Given the description of an element on the screen output the (x, y) to click on. 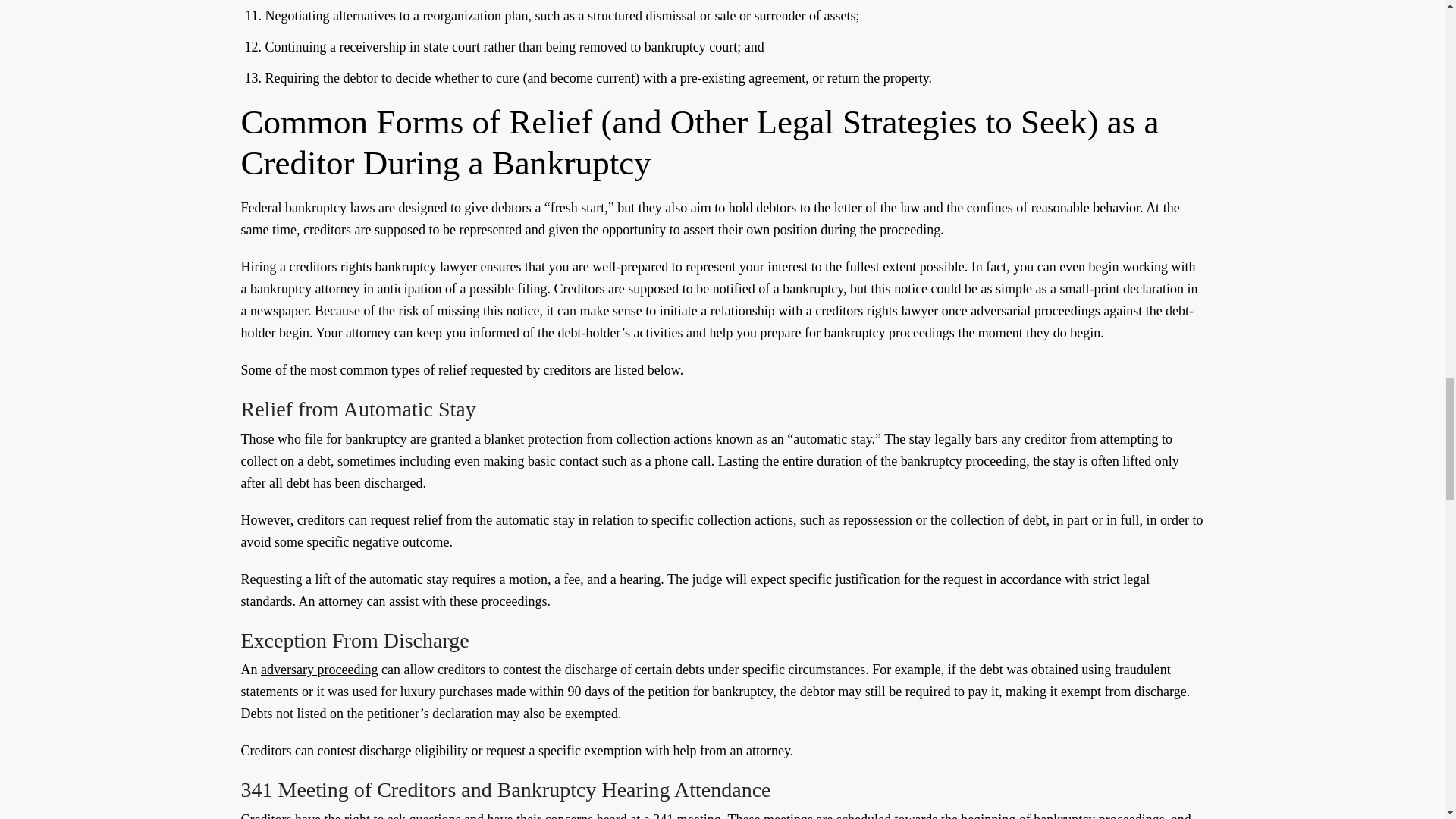
adversary proceeding (318, 669)
